Given the description of an element on the screen output the (x, y) to click on. 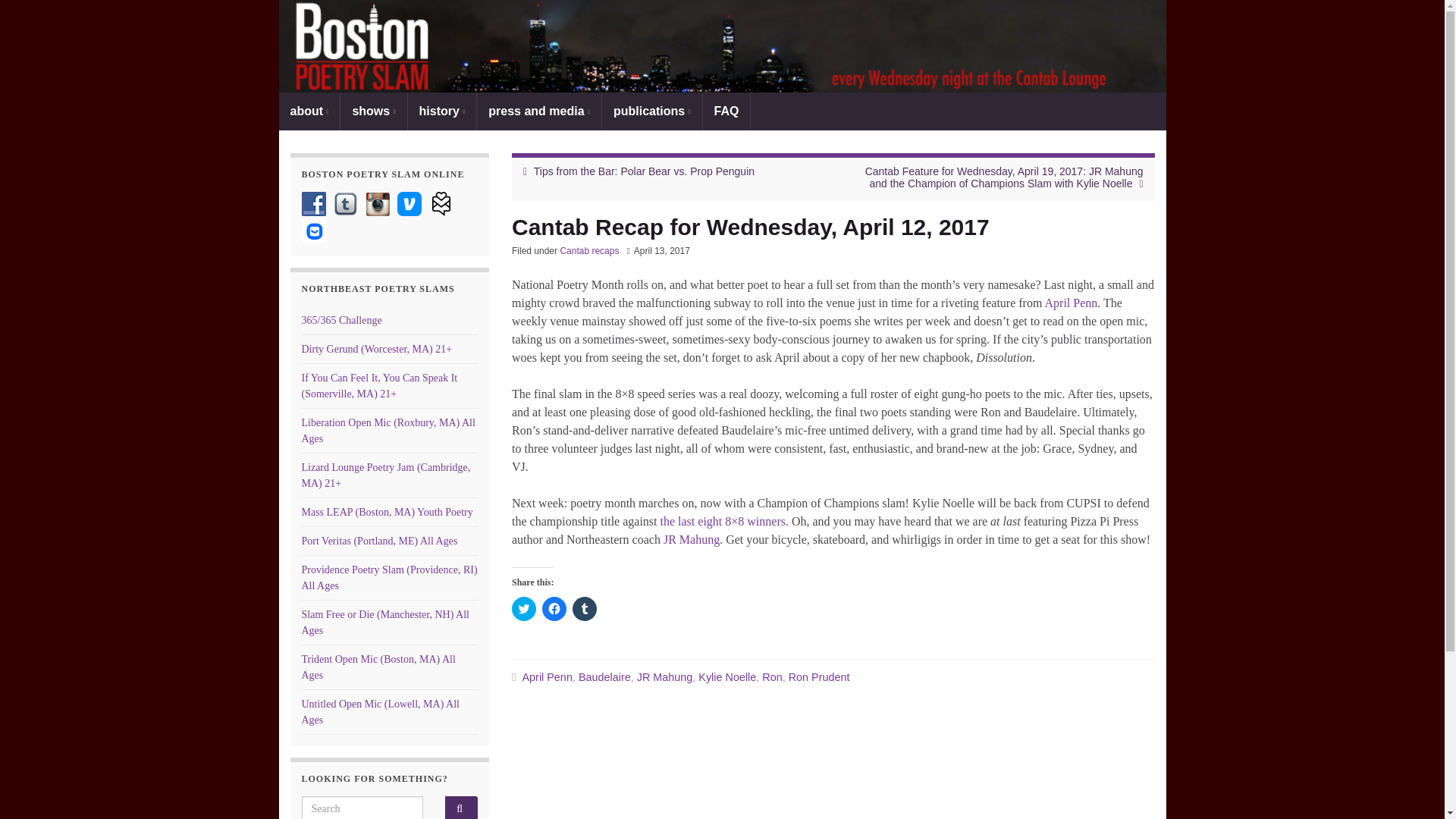
Click to share on Tumblr (584, 608)
Click to share on Twitter (523, 608)
Click to share on Facebook (553, 608)
about (309, 111)
 Tumblr (345, 203)
 Old Newsletter! (440, 203)
The daily writing blog run by the Cantab Open Mic community. (341, 319)
2017-04-13T14:23:20-04:00 (661, 250)
history (442, 111)
 Facebook (313, 203)
